Given the description of an element on the screen output the (x, y) to click on. 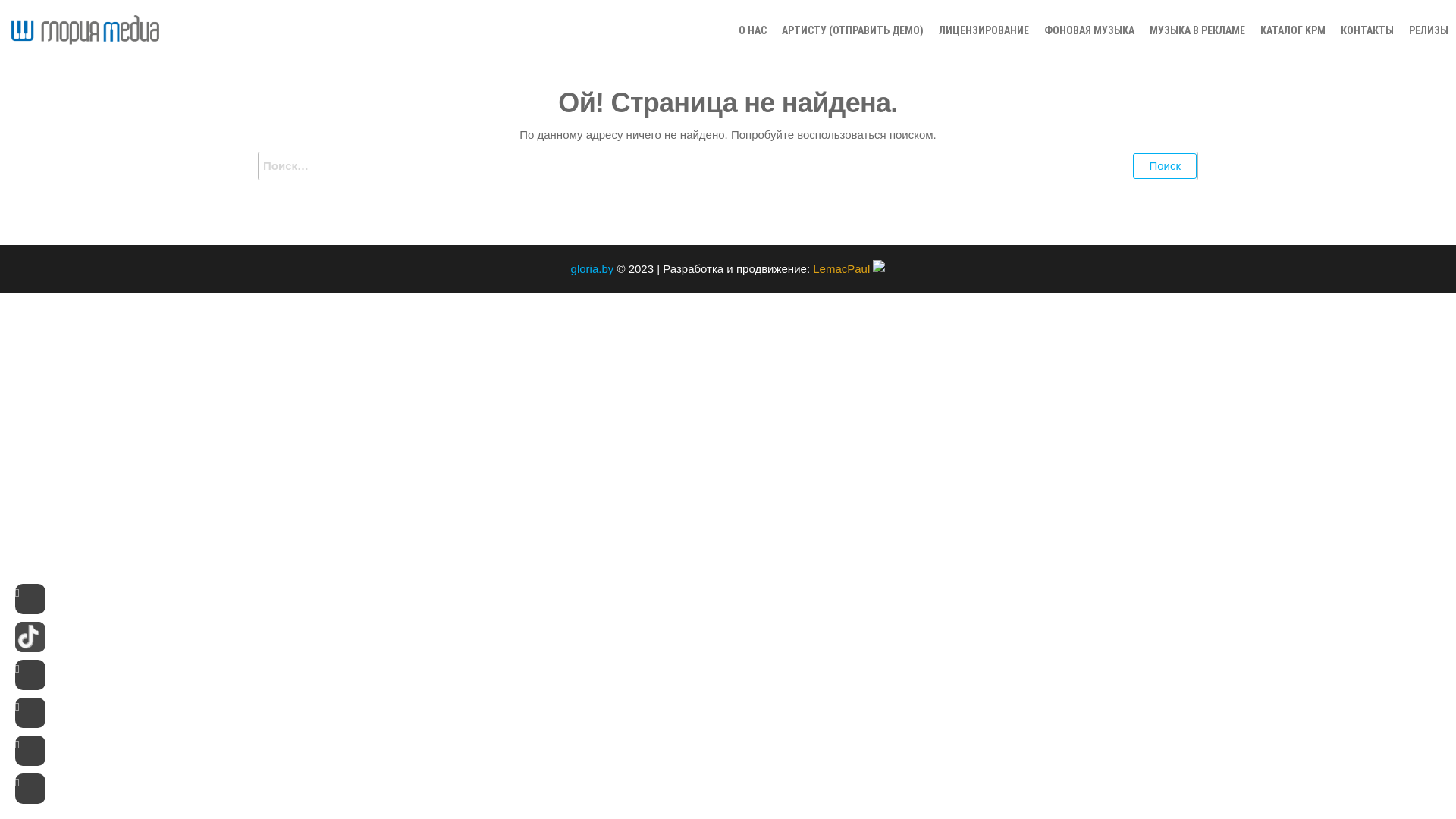
GLORIA MEDIA Element type: text (202, 53)
gloria.by Element type: text (592, 268)
LemacPaul Element type: text (848, 268)
